Given the description of an element on the screen output the (x, y) to click on. 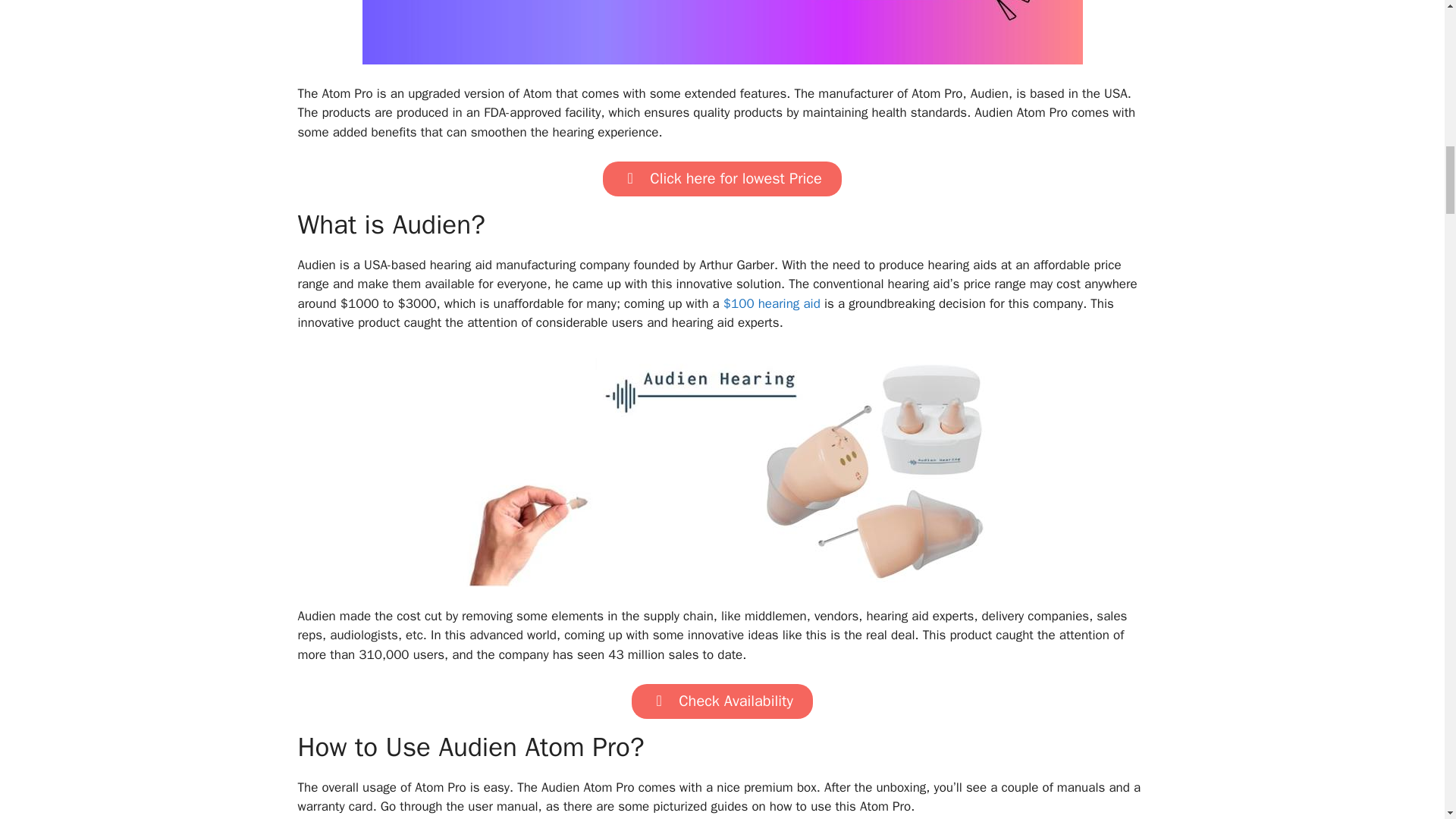
Check Availability (721, 701)
Click here for lowest Price (721, 178)
